Given the description of an element on the screen output the (x, y) to click on. 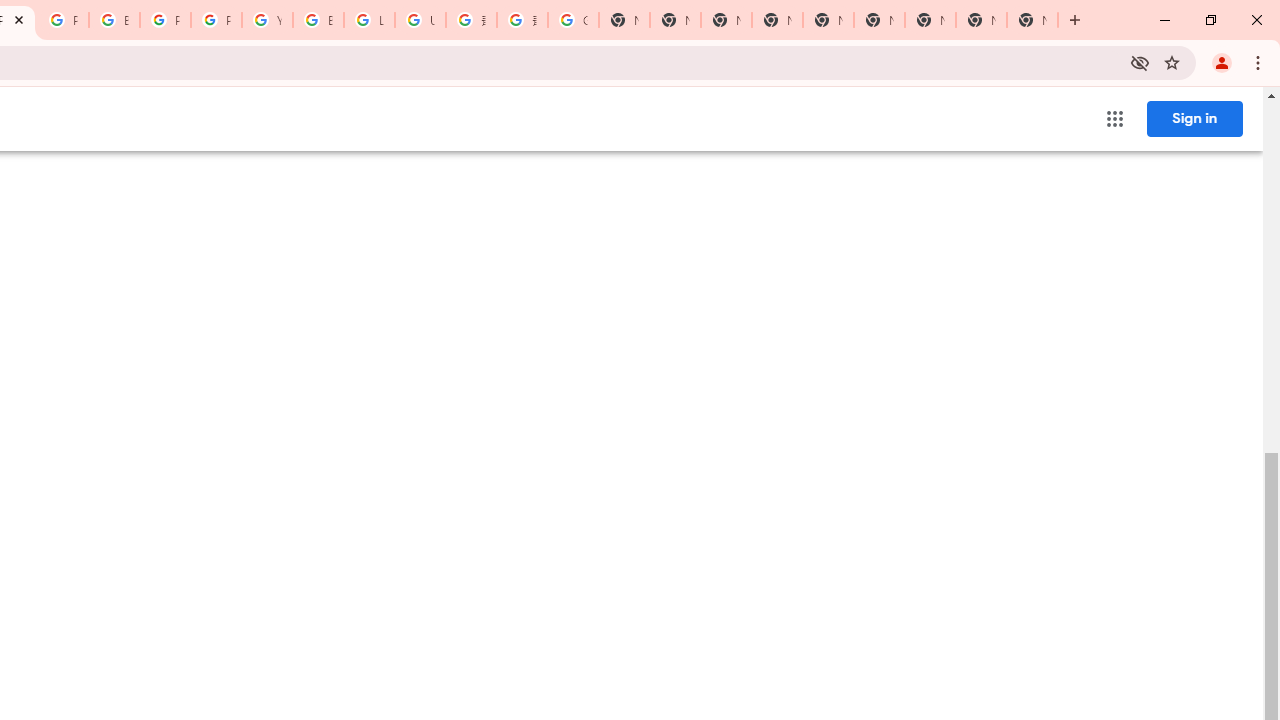
Sign in (1194, 118)
Google apps (1114, 118)
